Given the description of an element on the screen output the (x, y) to click on. 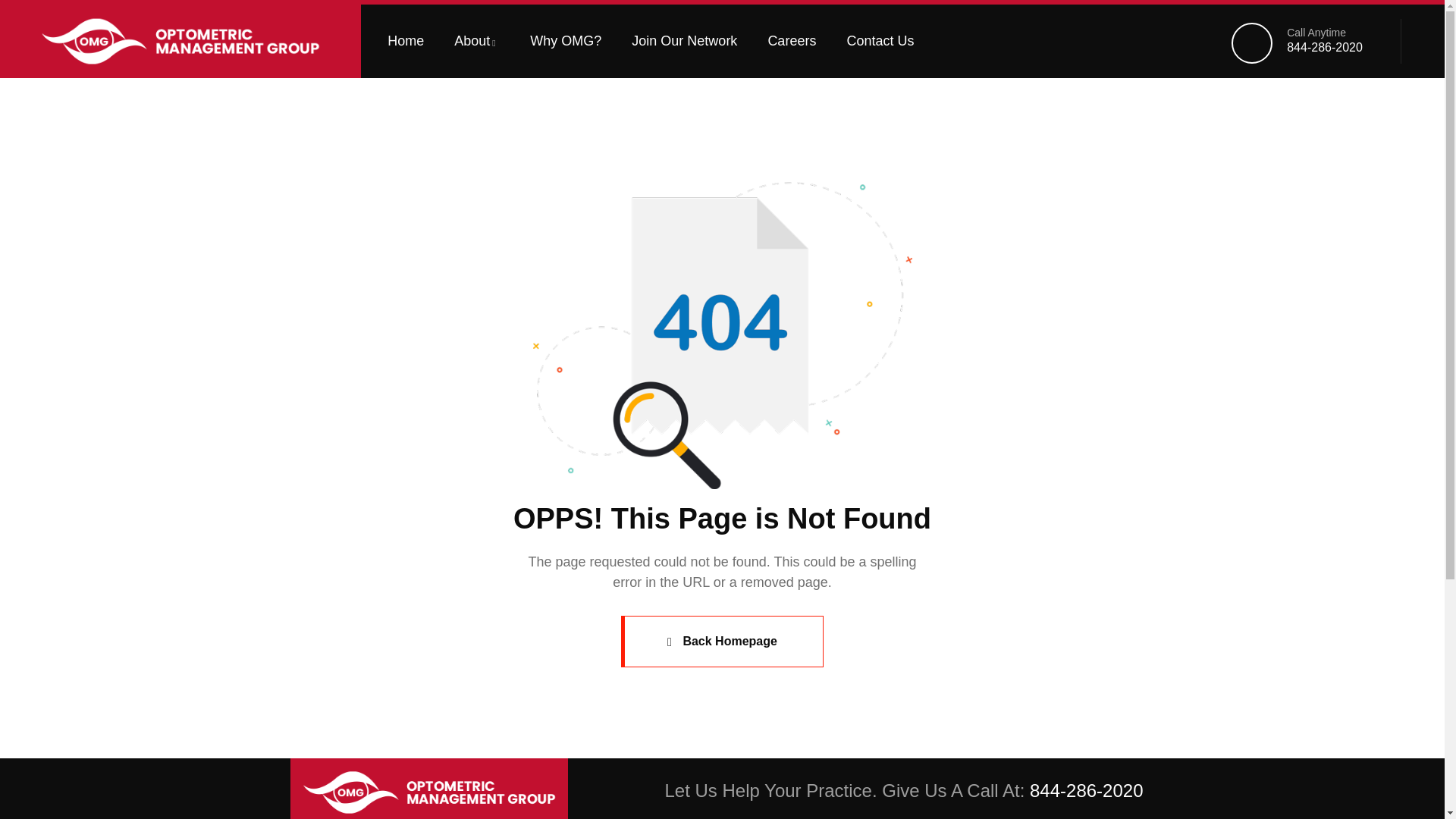
Contact Us (879, 40)
Home (180, 41)
Home (428, 791)
Why OMG? (565, 40)
Call Anytime (1316, 32)
Join Our Network (684, 40)
Back Homepage (722, 641)
